Given the description of an element on the screen output the (x, y) to click on. 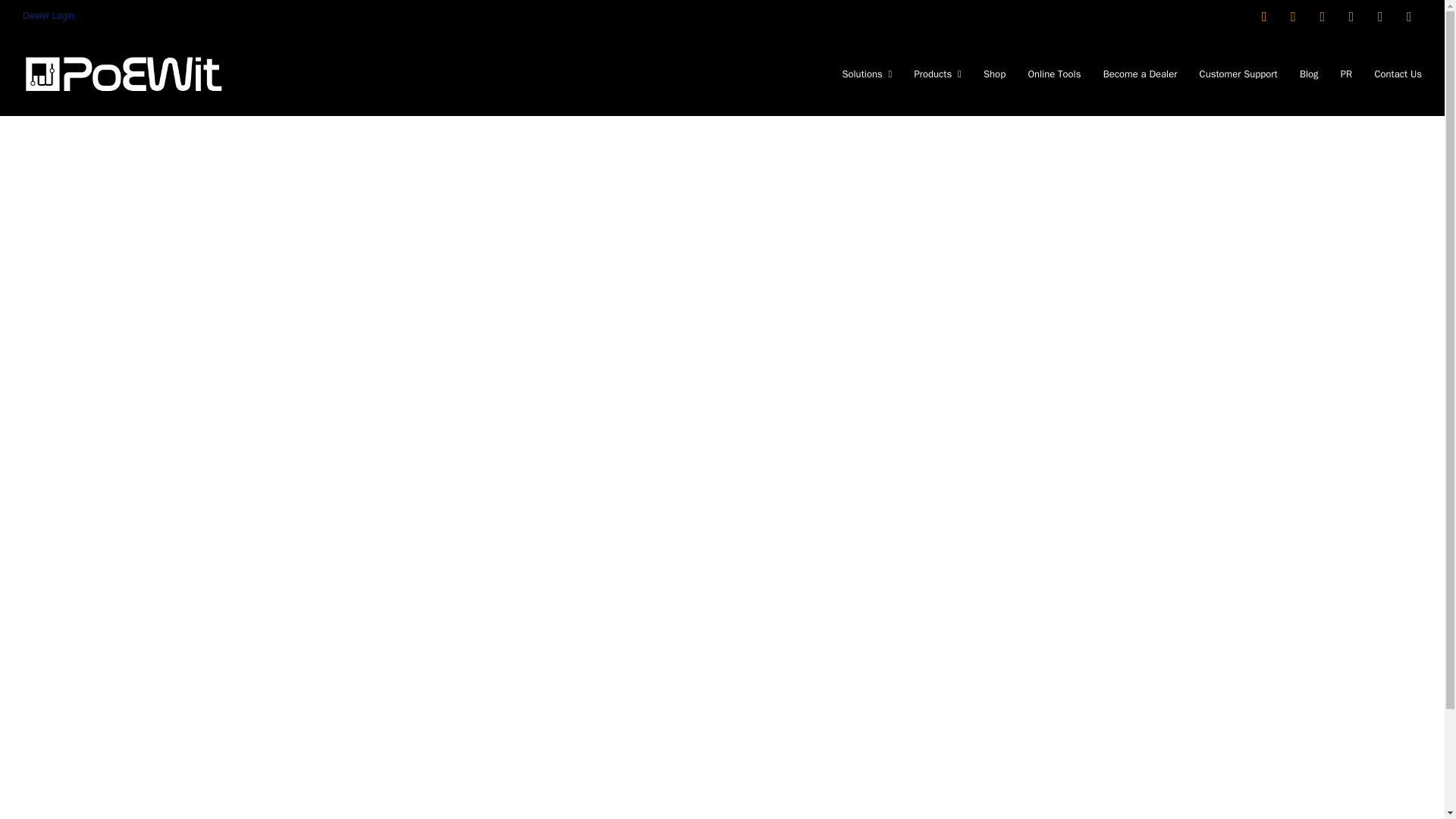
Become a Dealer (1140, 74)
Instagram (1293, 16)
LinkedIn (1321, 16)
Customer Support (1238, 74)
Twitter (1380, 16)
LinkedIn (1321, 16)
Facebook (1350, 16)
Facebook (1350, 16)
Tiktok (1409, 16)
Products (937, 74)
